Given the description of an element on the screen output the (x, y) to click on. 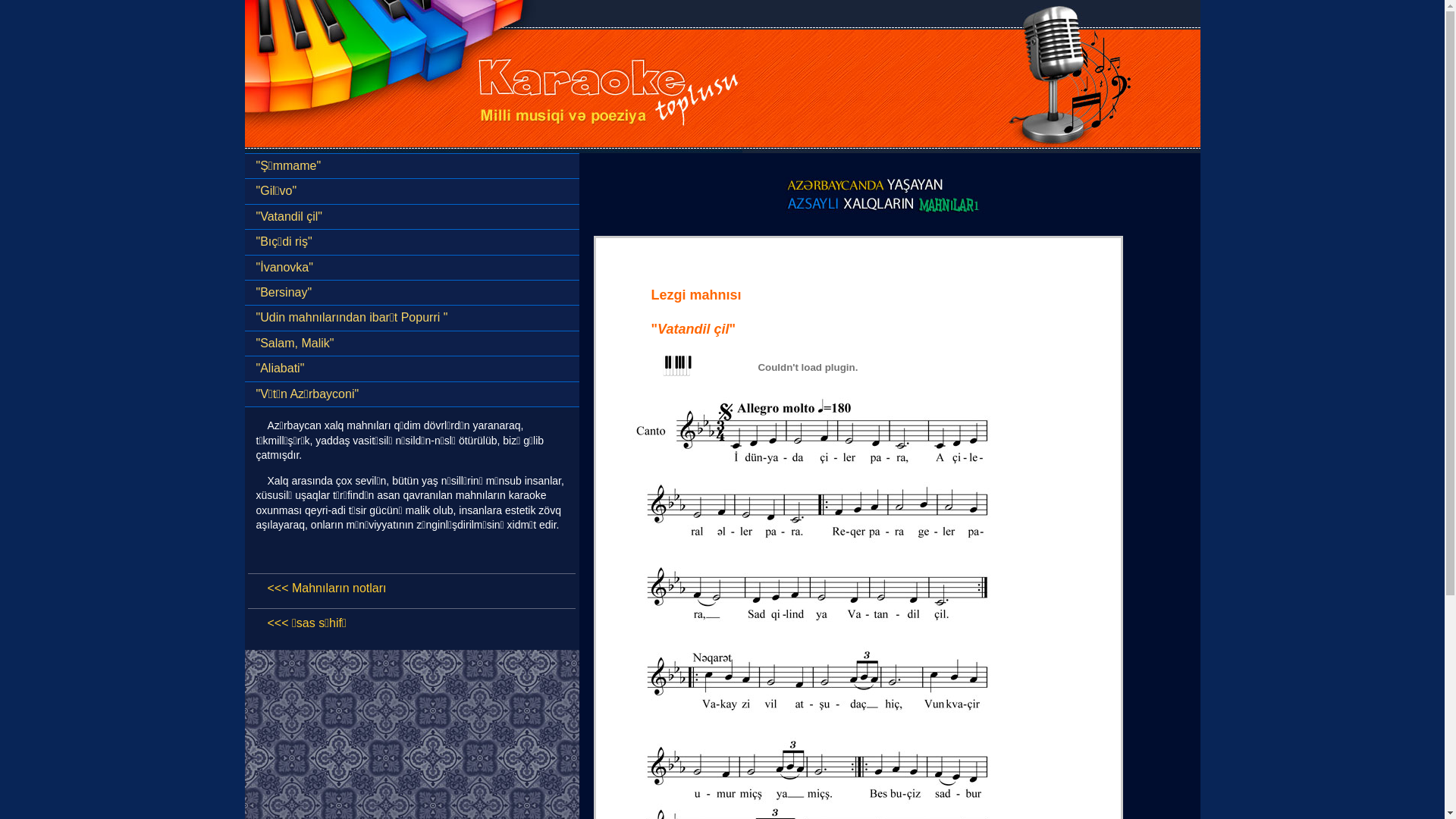
"Salam, Malik" Element type: text (411, 343)
"Bersinay" Element type: text (411, 292)
"Aliabati" Element type: text (411, 368)
